Given the description of an element on the screen output the (x, y) to click on. 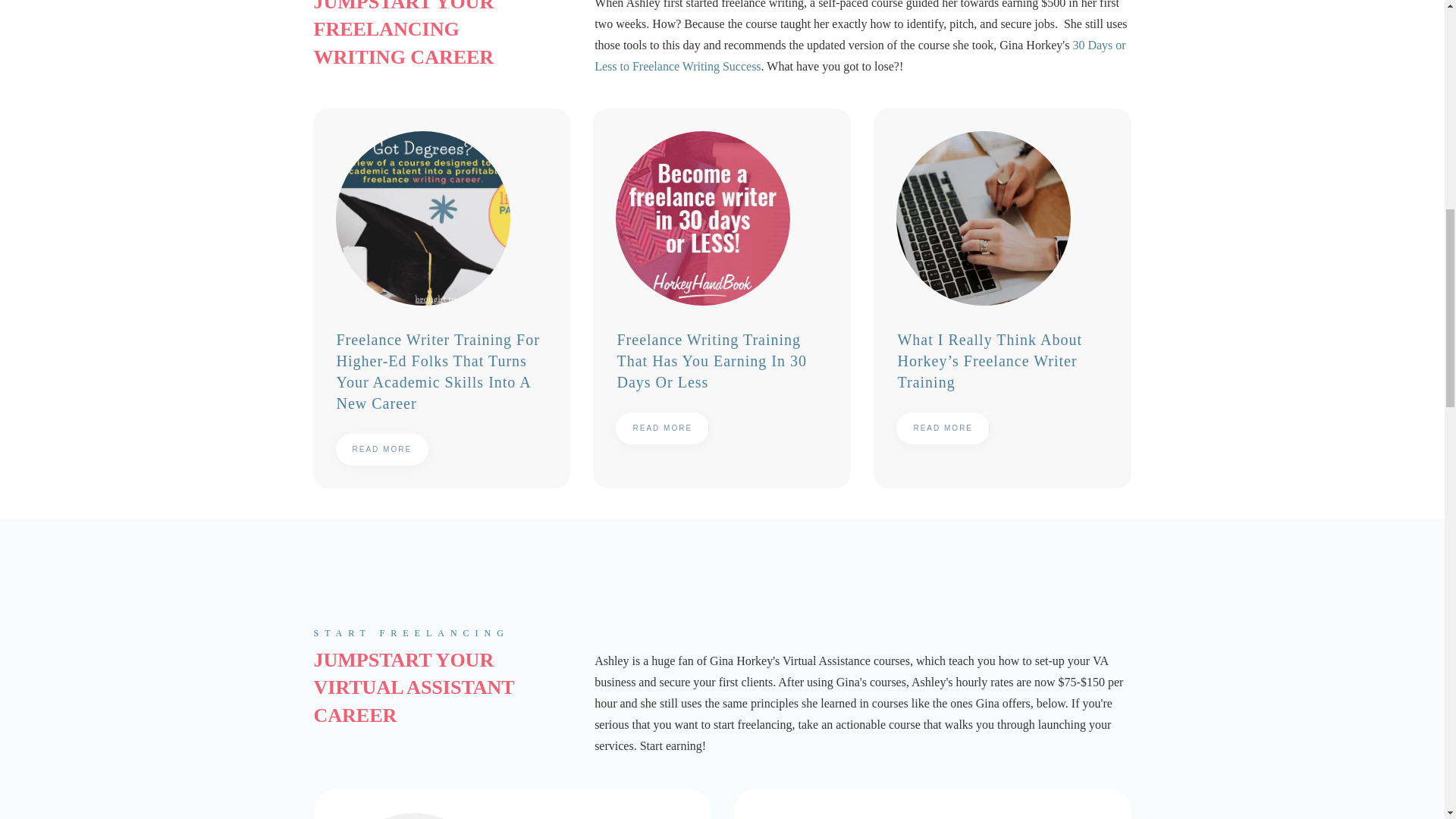
Best Accredited Virtual Assistant Training (932, 804)
READ MORE (662, 428)
READ MORE (381, 450)
VA and Freelance Writer Course Reviews (512, 804)
READ MORE (943, 428)
30 Days or Less to Freelance Writing Success (859, 55)
